Given the description of an element on the screen output the (x, y) to click on. 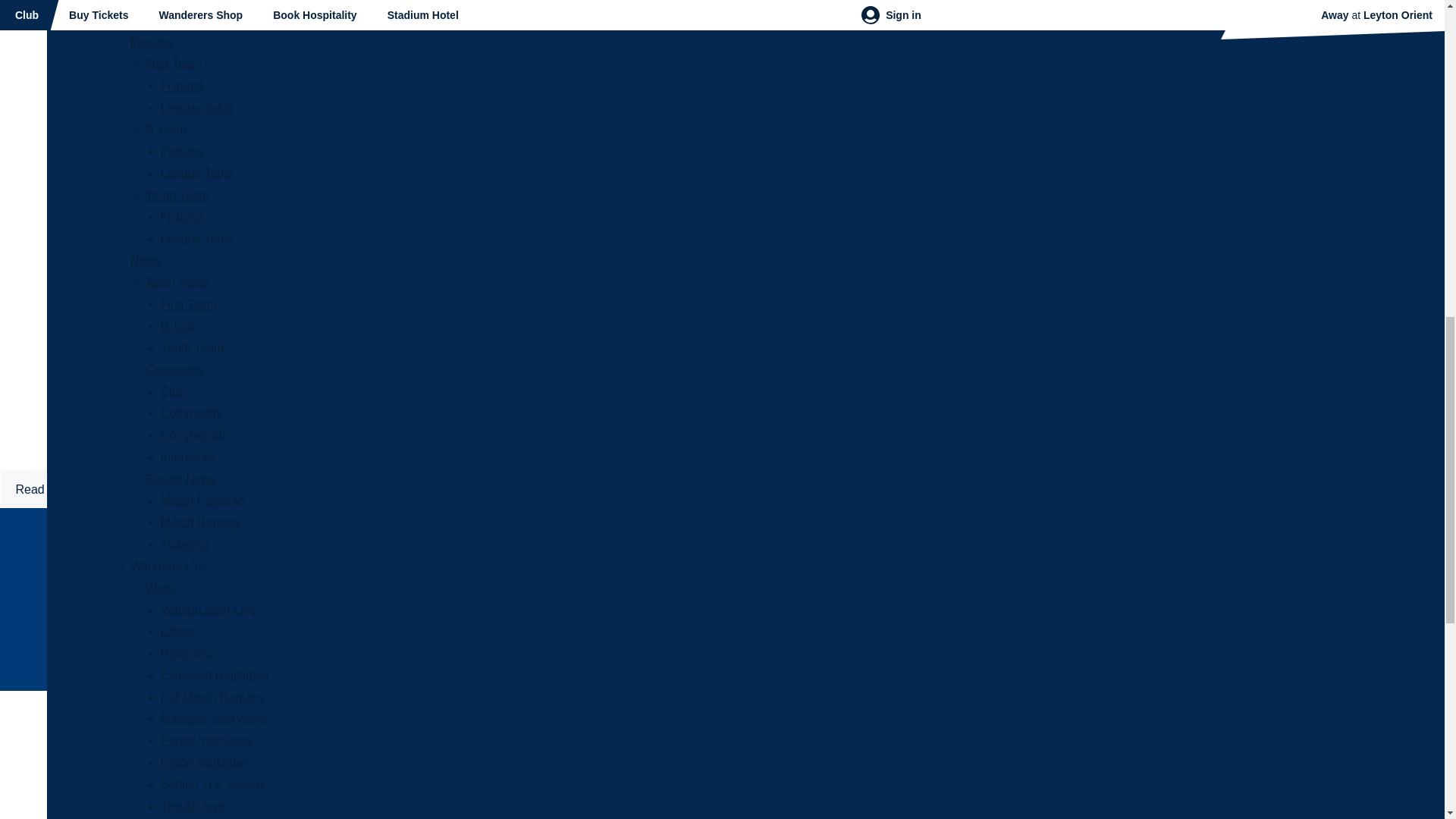
Back to home (25, 352)
